Given the description of an element on the screen output the (x, y) to click on. 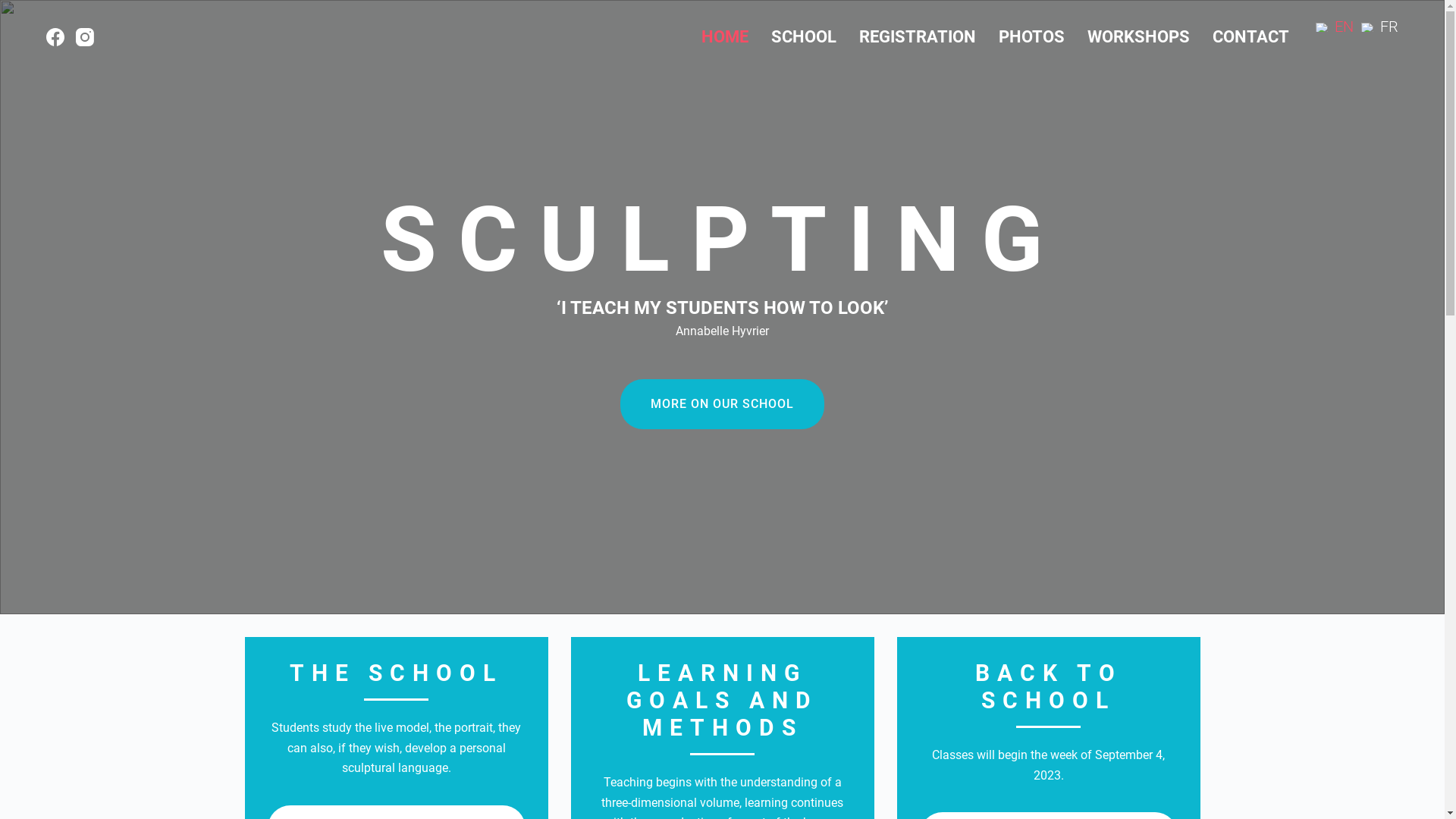
WORKSHOPS Element type: text (1138, 36)
EN Element type: text (1334, 26)
Skip to content Element type: text (15, 7)
PHOTOS Element type: text (1031, 36)
SCHOOL Element type: text (803, 36)
MORE ON OUR SCHOOL Element type: text (722, 404)
REGISTRATION Element type: text (917, 36)
FR Element type: text (1379, 26)
CONTACT Element type: text (1250, 36)
HOME Element type: text (724, 36)
